Given the description of an element on the screen output the (x, y) to click on. 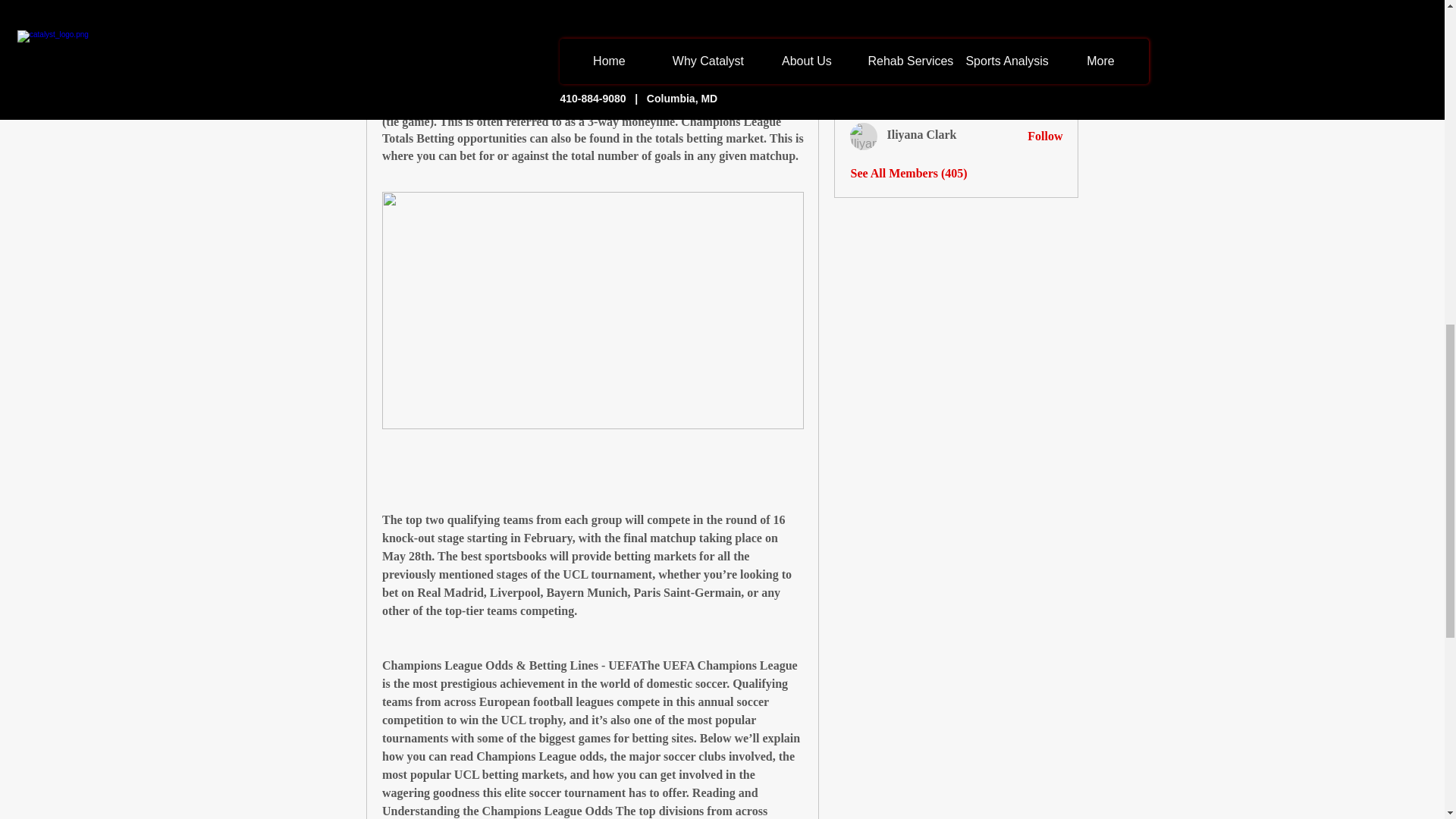
nikijhone93 (916, 97)
Iliyana Clark (863, 135)
Audrey Rapp (863, 2)
Follow (1044, 99)
Follow (1044, 63)
Amelia Ella (916, 61)
pha.mbaokhang126 (937, 24)
Follow (1044, 135)
nikijhone93 (863, 99)
pha.mbaokhang126 (863, 26)
Amelia Ella (863, 62)
Follow (1044, 27)
Iliyana Clark (921, 133)
